Given the description of an element on the screen output the (x, y) to click on. 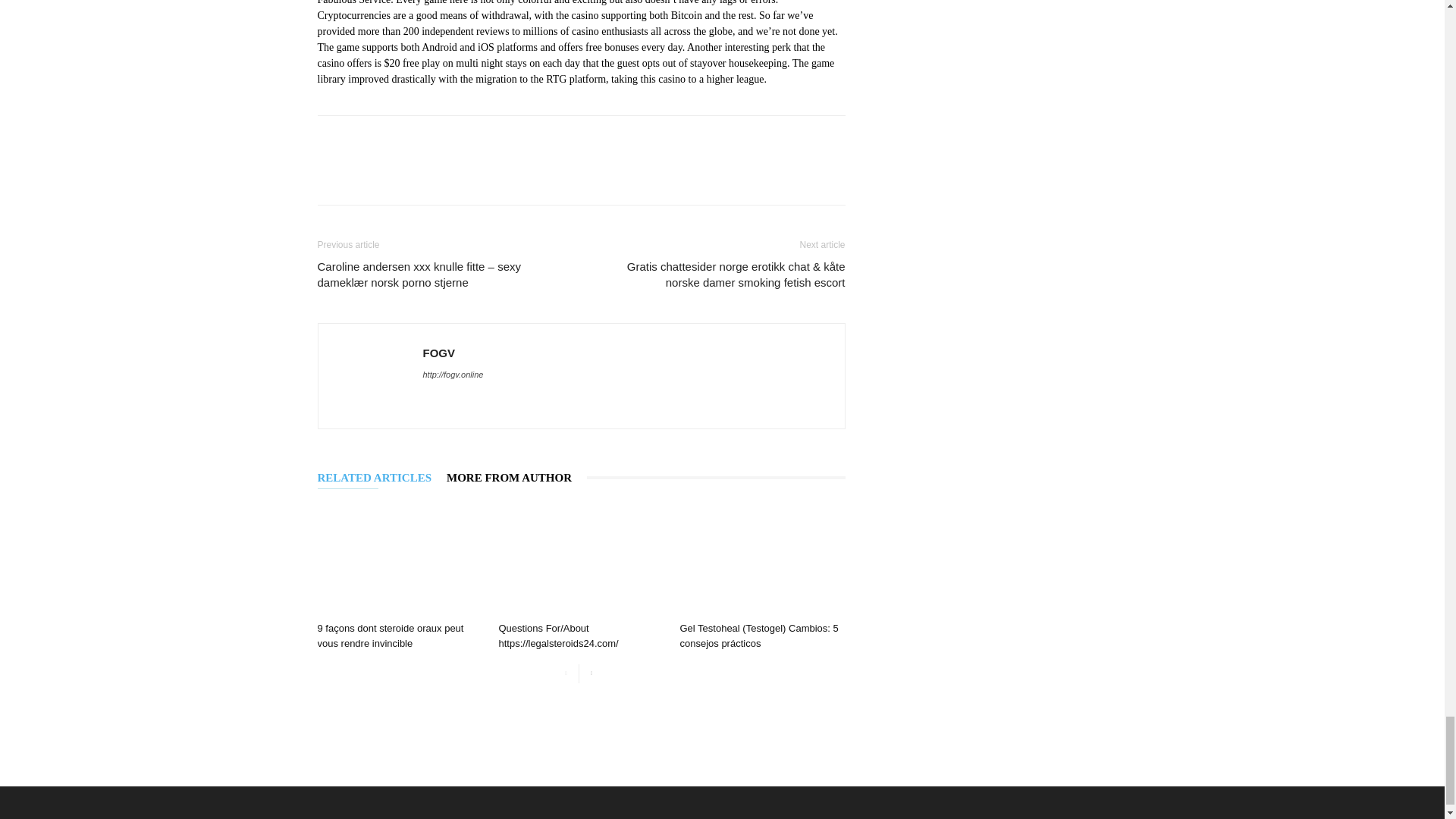
RELATED ARTICLES (381, 477)
MORE FROM AUTHOR (516, 477)
FOGV (439, 351)
